Given the description of an element on the screen output the (x, y) to click on. 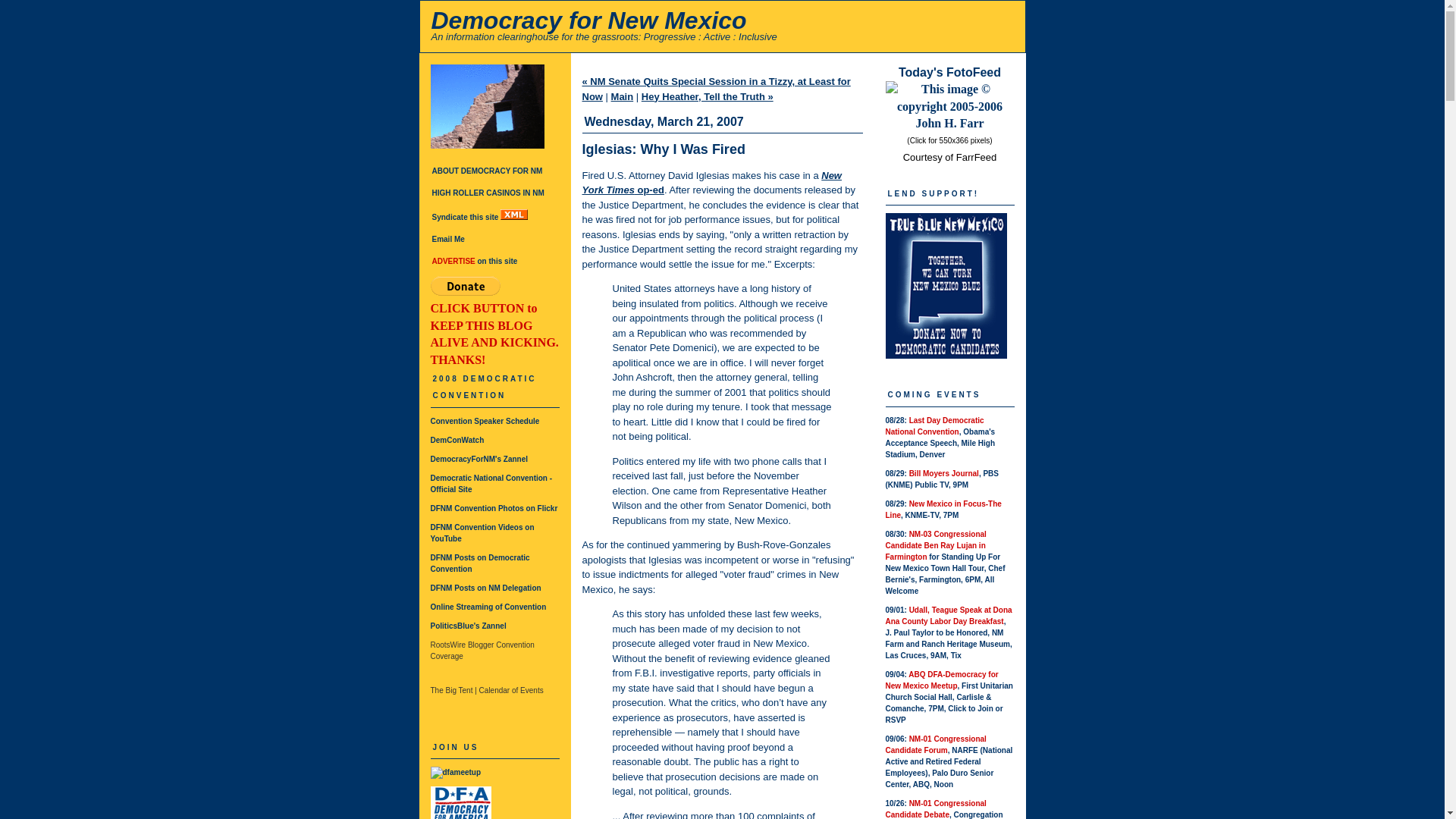
DFNM Convention Photos on Flickr (493, 508)
DemocracyForNM's Zannel (479, 459)
DFNM Posts on NM Delegation (485, 587)
PoliticsBlue's Zannel (468, 625)
ADVERTISE on this site (475, 261)
HIGH ROLLER CASINOS IN NM (488, 193)
Syndicate this site (480, 216)
Convention Speaker Schedule (485, 420)
Democratic National Convention - Official Site (491, 483)
DFNM Posts on Democratic Convention (479, 563)
